Given the description of an element on the screen output the (x, y) to click on. 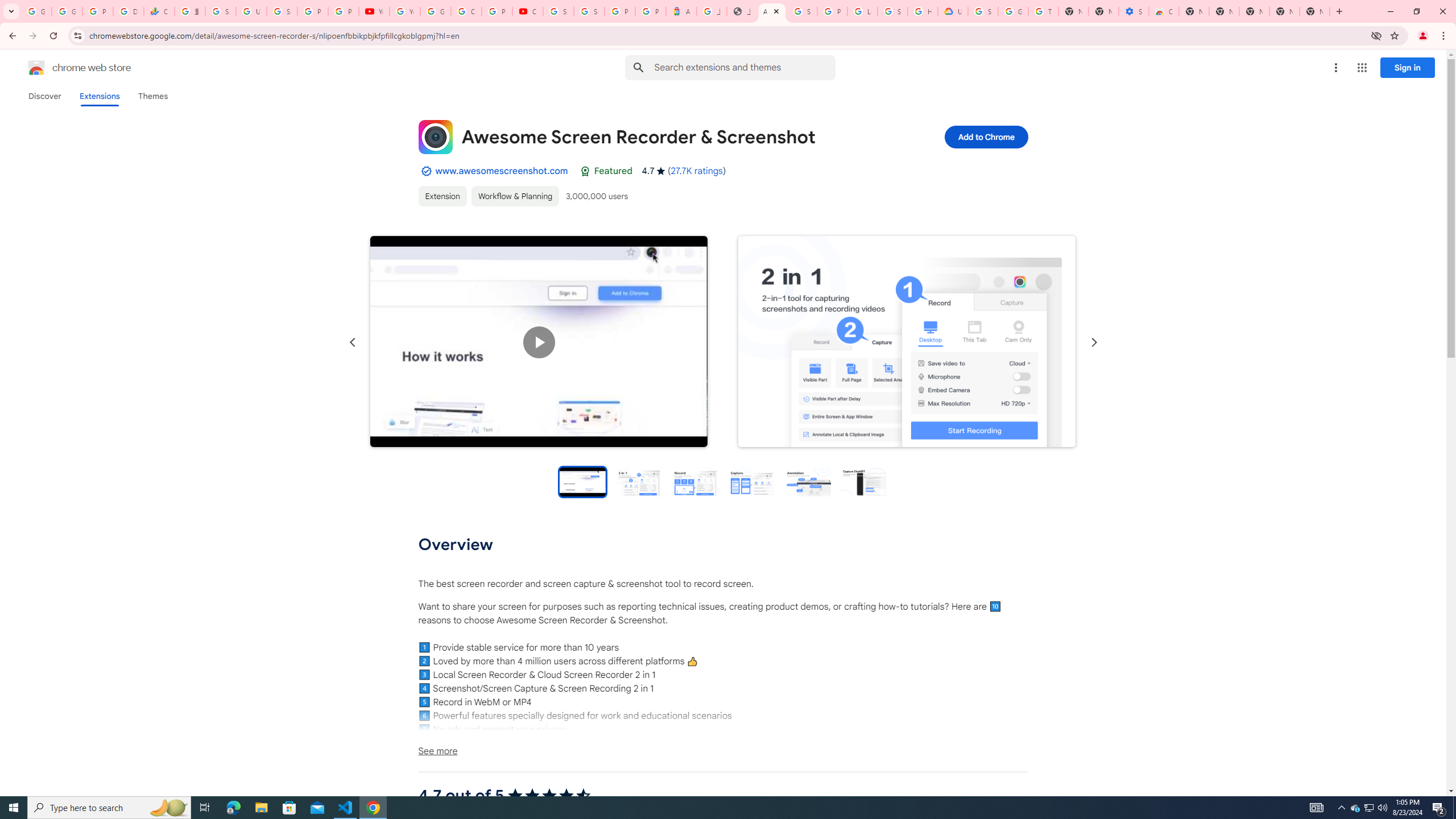
Item media 2 screenshot (906, 341)
Atour Hotel - Google hotels (681, 11)
New Tab (1314, 11)
Item media 1 video (538, 342)
Item logo image for Awesome Screen Recorder & Screenshot (434, 136)
Preview slide 2 (638, 481)
Add to Chrome (985, 136)
Themes (152, 95)
Item media 2 screenshot (906, 342)
Discover (43, 95)
